Given the description of an element on the screen output the (x, y) to click on. 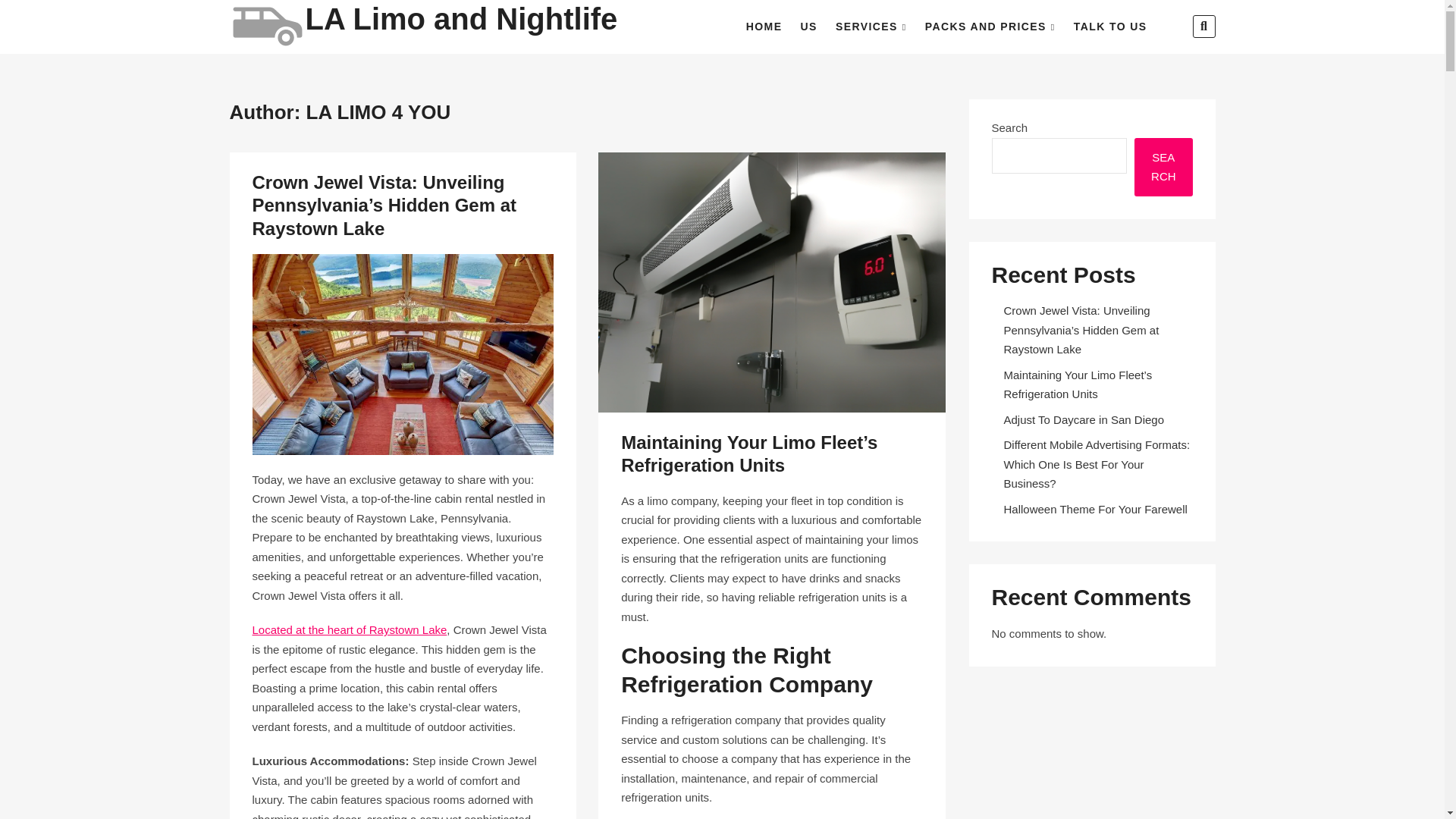
Located at the heart of Raystown Lake (348, 629)
TALK TO US (1109, 26)
SERVICES (871, 27)
LA Limo and Nightlife (460, 19)
PACKS AND PRICES (989, 27)
LA Limo and Nightlife (460, 19)
HOME (764, 26)
